Given the description of an element on the screen output the (x, y) to click on. 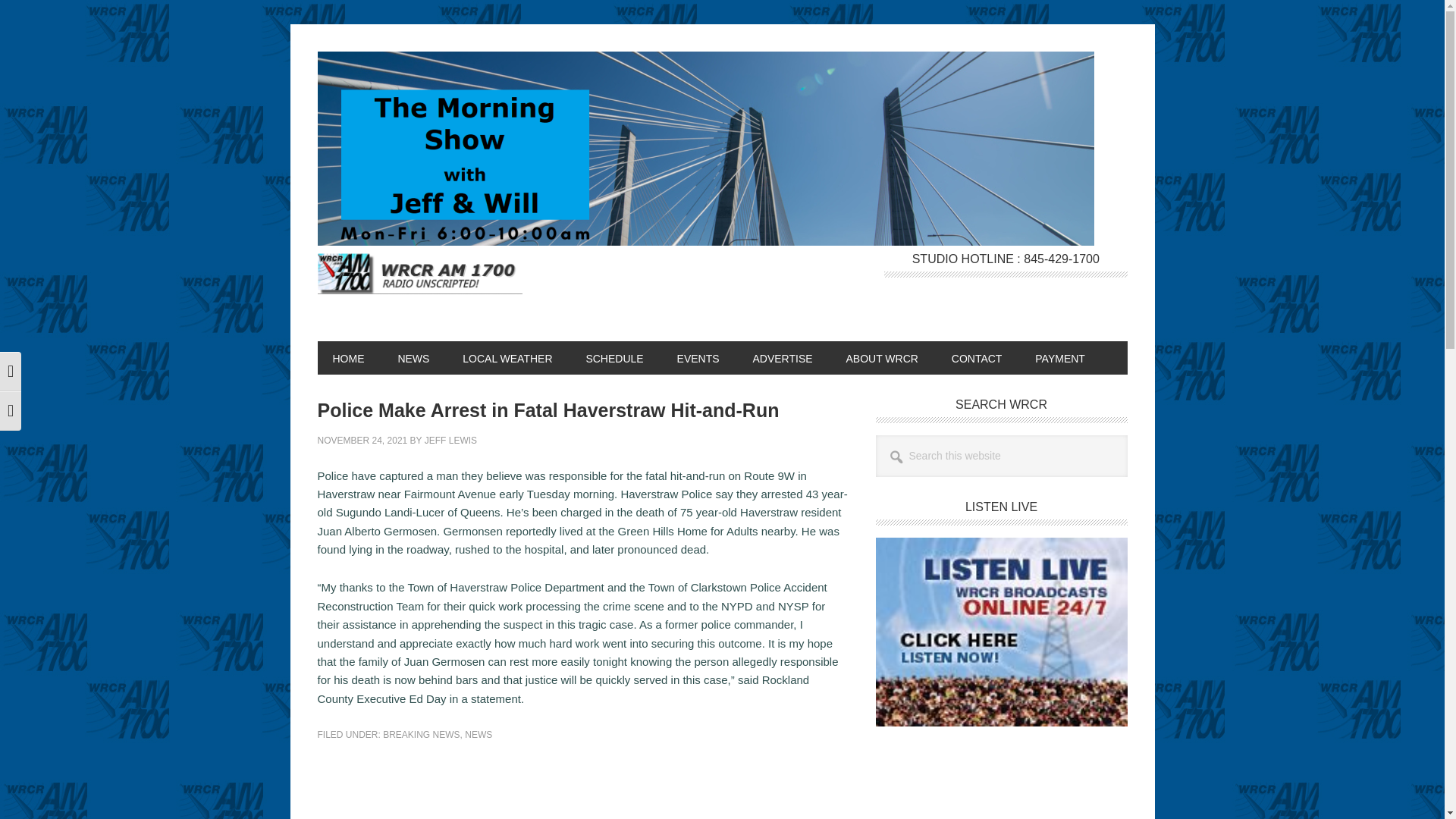
CONTACT (976, 357)
EVENTS (698, 357)
ABOUT WRCR (881, 357)
ADVERTISE (781, 357)
LOCAL WEATHER (506, 357)
PAYMENT (1060, 357)
SCHEDULE (614, 357)
NEWS (478, 734)
WRCR AM 1700 (419, 283)
